Given the description of an element on the screen output the (x, y) to click on. 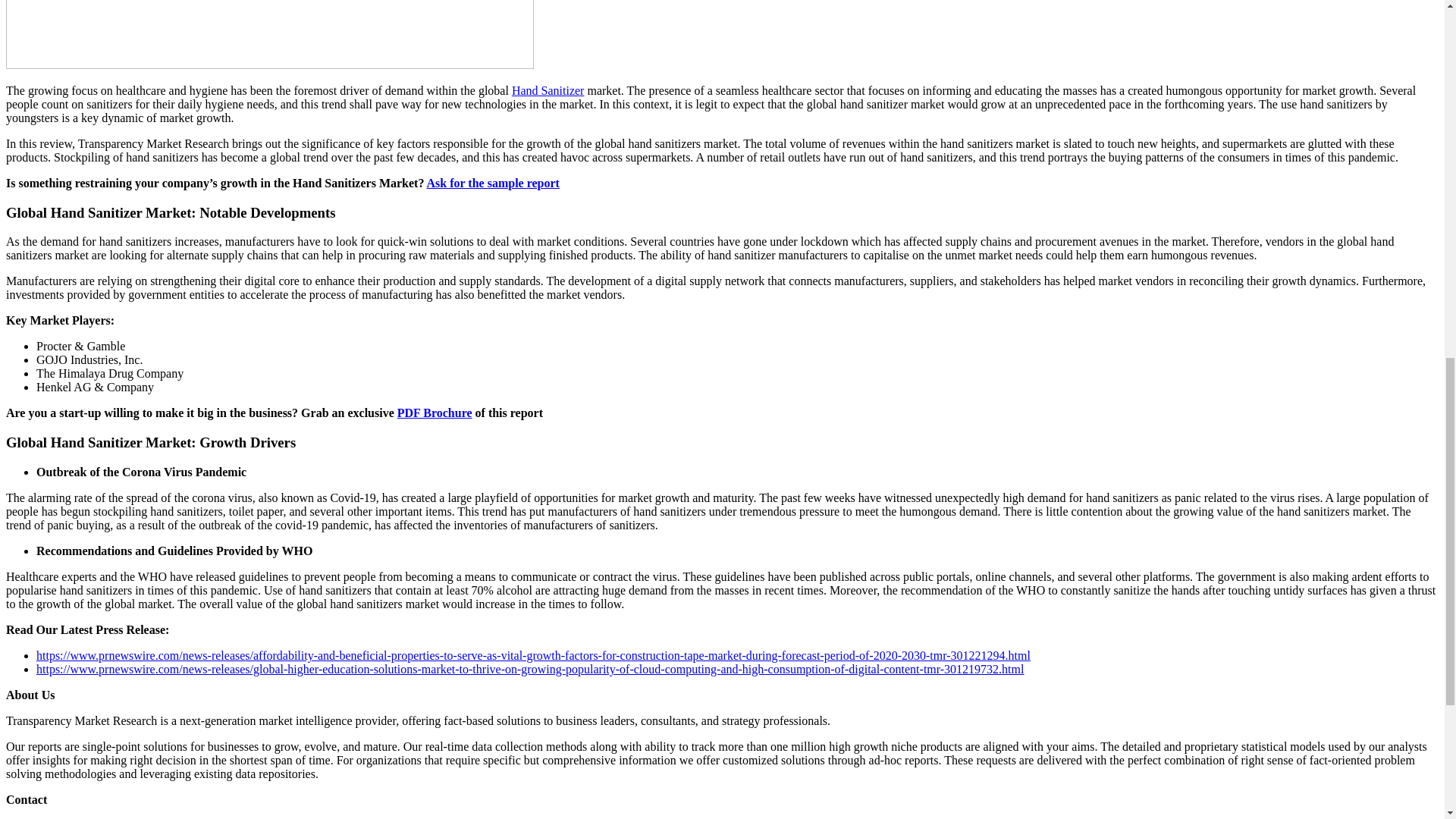
Ask for the sample report (492, 182)
PDF Brochure (434, 412)
Hand Sanitizer (548, 90)
